Given the description of an element on the screen output the (x, y) to click on. 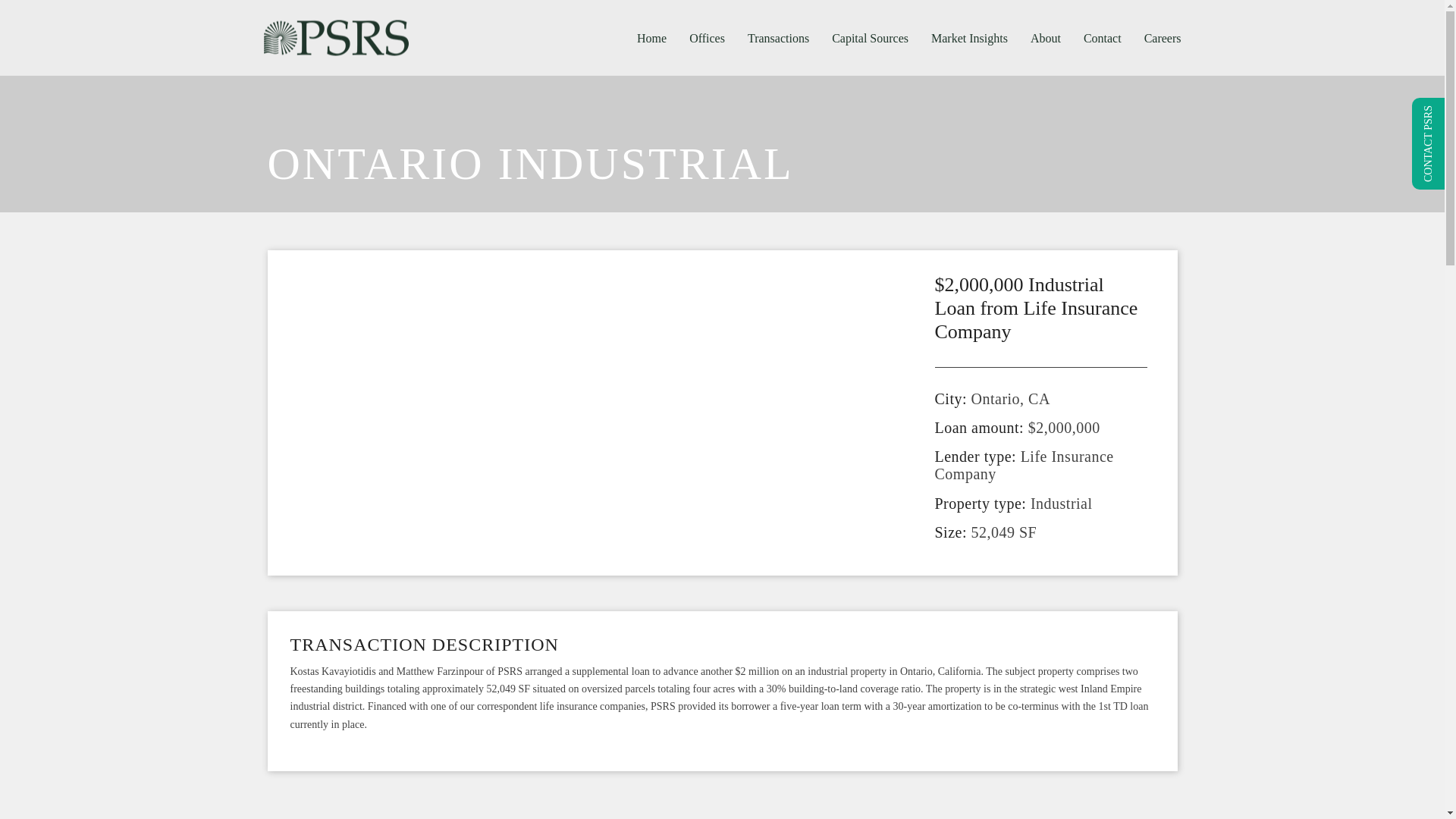
Transactions (778, 38)
Commercial Real Estate Financial Expertise (336, 37)
Home (652, 38)
Capital Sources (870, 38)
Contact (1101, 38)
Careers (1162, 38)
Contact (1101, 38)
Capital Sources (870, 38)
Offices (707, 38)
About (1045, 38)
